Given the description of an element on the screen output the (x, y) to click on. 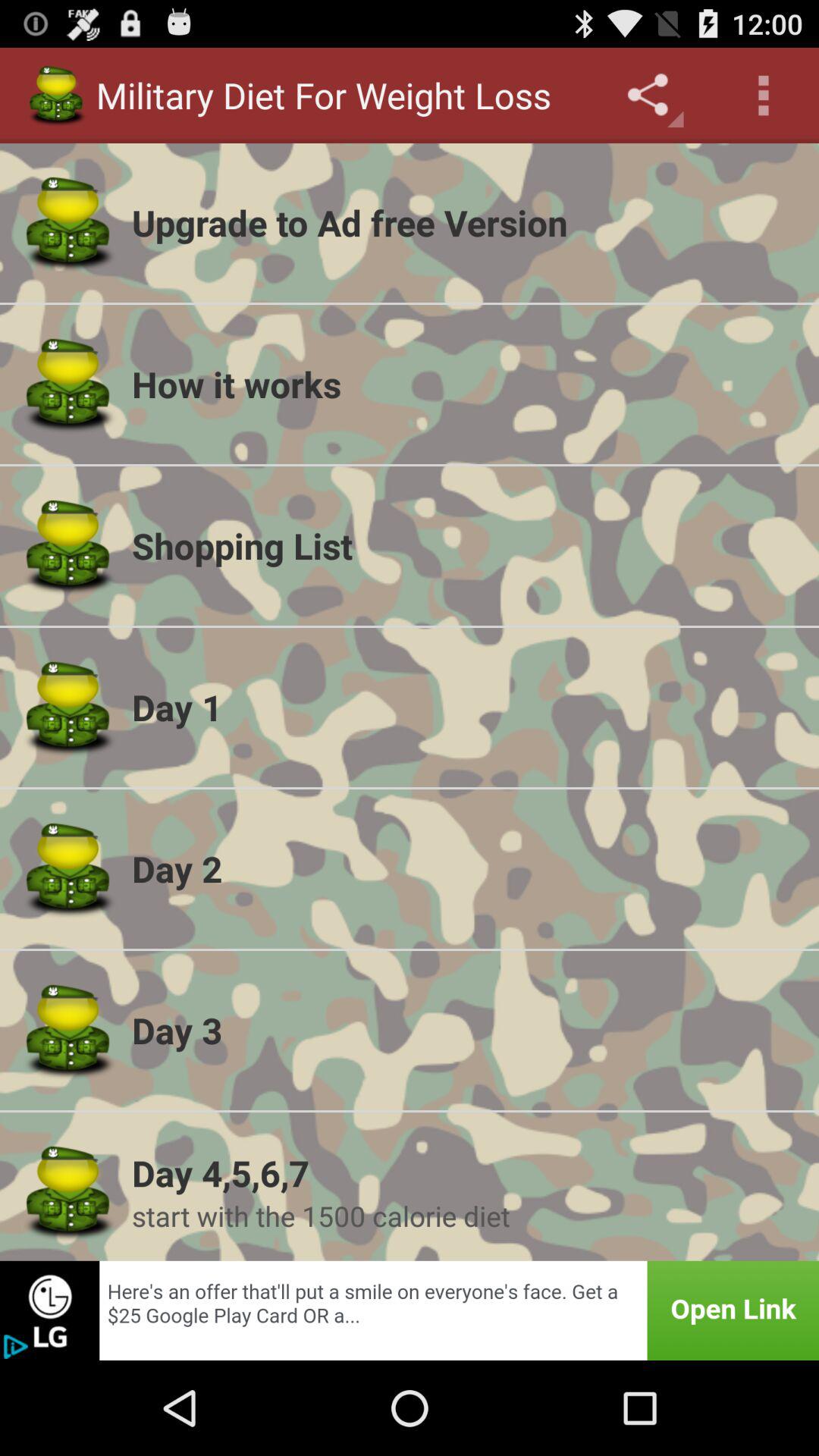
select the item above the shopping list app (465, 384)
